Given the description of an element on the screen output the (x, y) to click on. 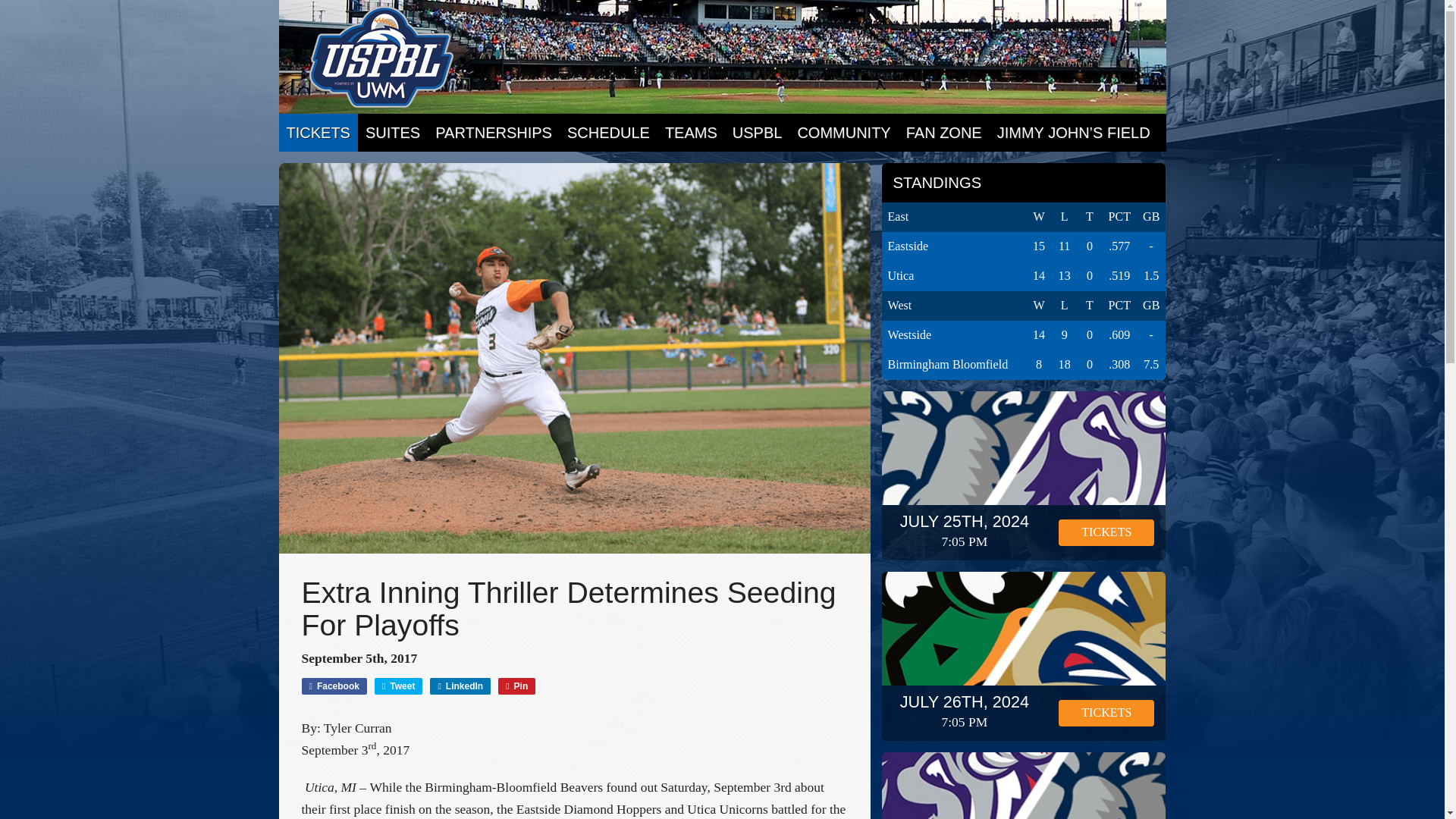
Share on Facebook (333, 686)
PARTNERSHIPS (493, 132)
TICKETS (318, 132)
USPBL (757, 132)
COMMUNITY (843, 132)
SUITES (393, 132)
Share on Pinterest (516, 686)
SCHEDULE (608, 132)
Share on LinkedIn (459, 686)
TEAMS (691, 132)
Share on Twitter (398, 686)
